Given the description of an element on the screen output the (x, y) to click on. 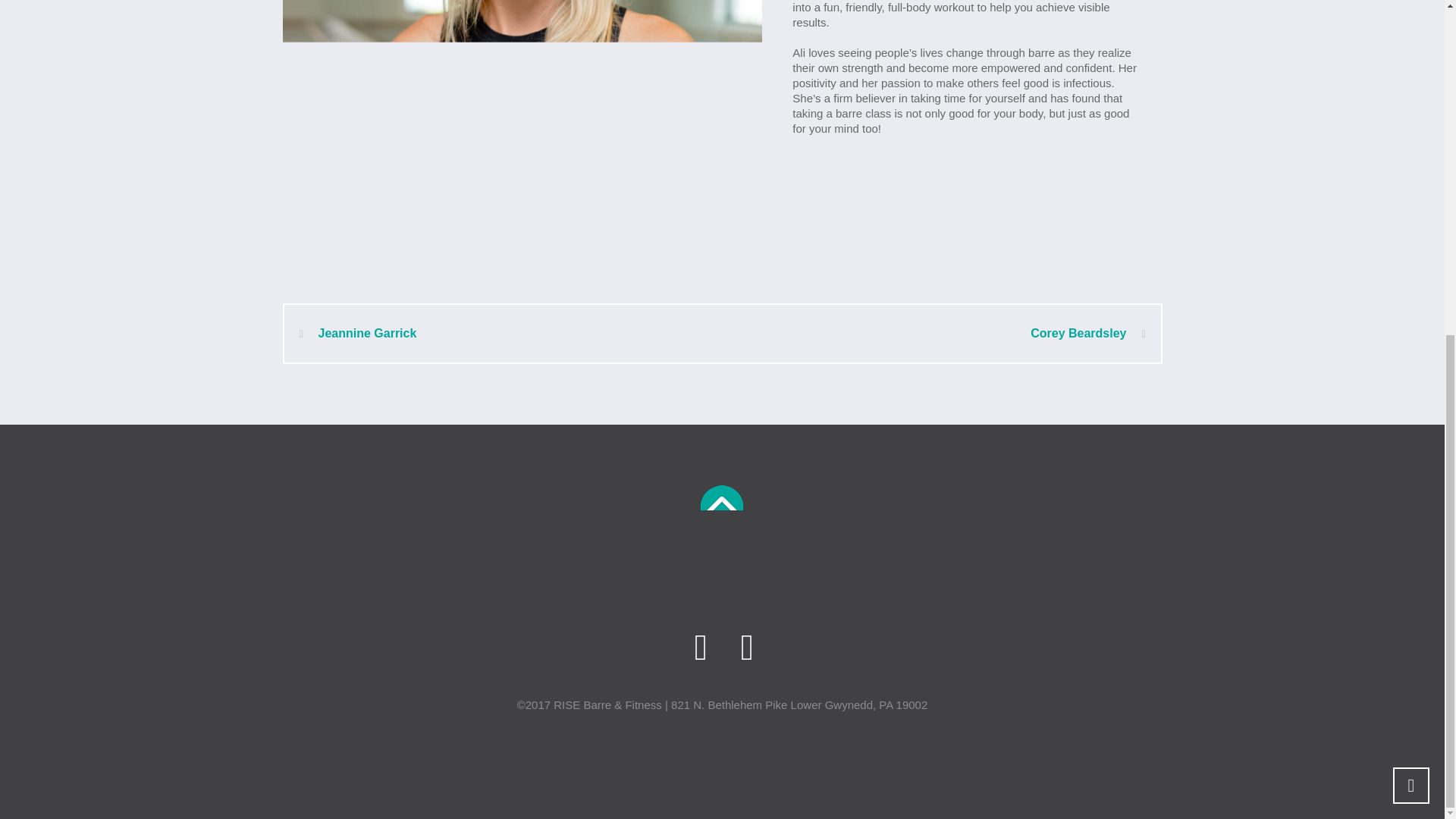
Ali Rossi (521, 126)
Facebook (748, 86)
Corey Beardsley (1087, 333)
Jeannine Garrick (357, 333)
